Given the description of an element on the screen output the (x, y) to click on. 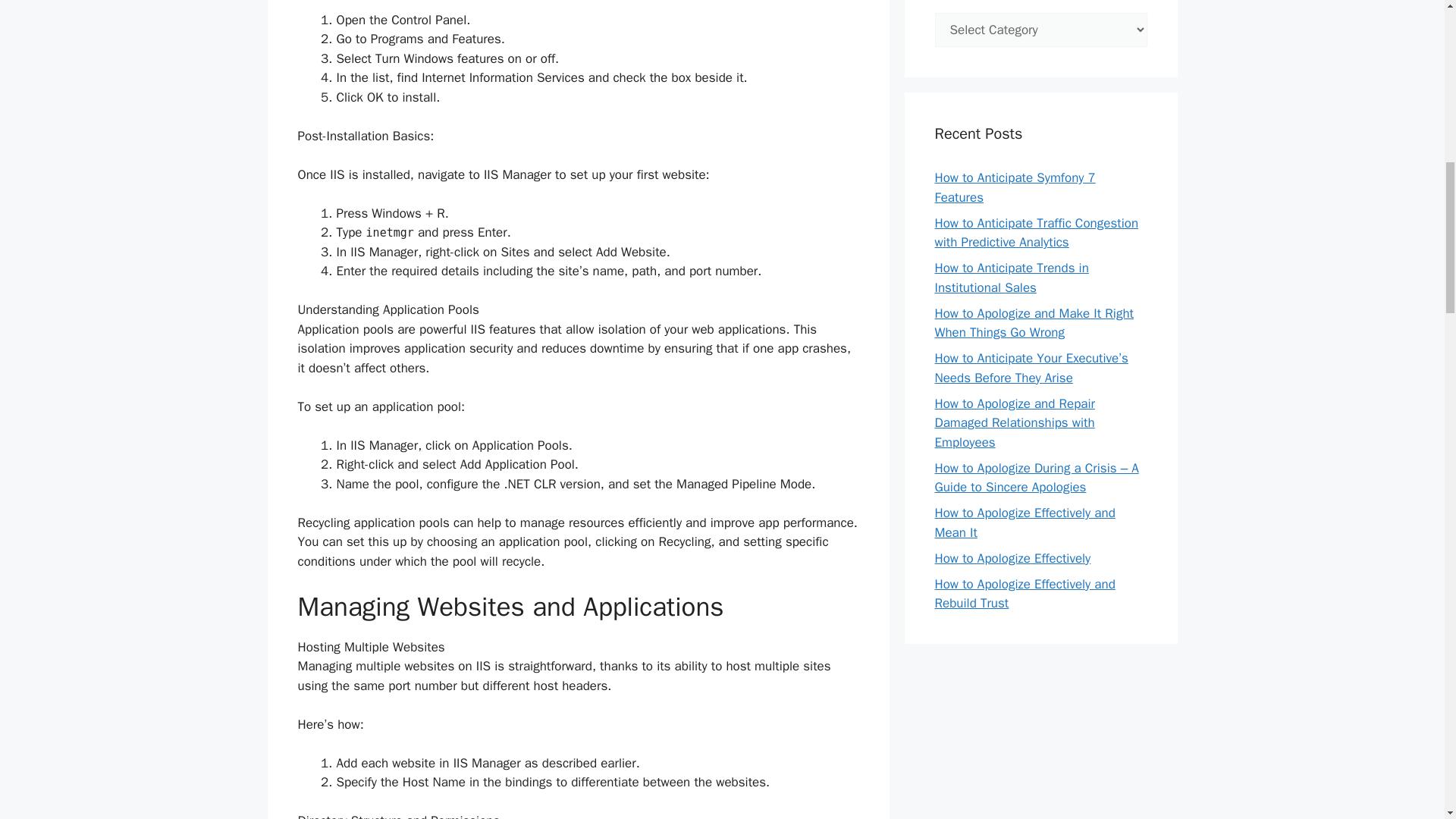
How to Anticipate Symfony 7 Features (1014, 187)
